Given the description of an element on the screen output the (x, y) to click on. 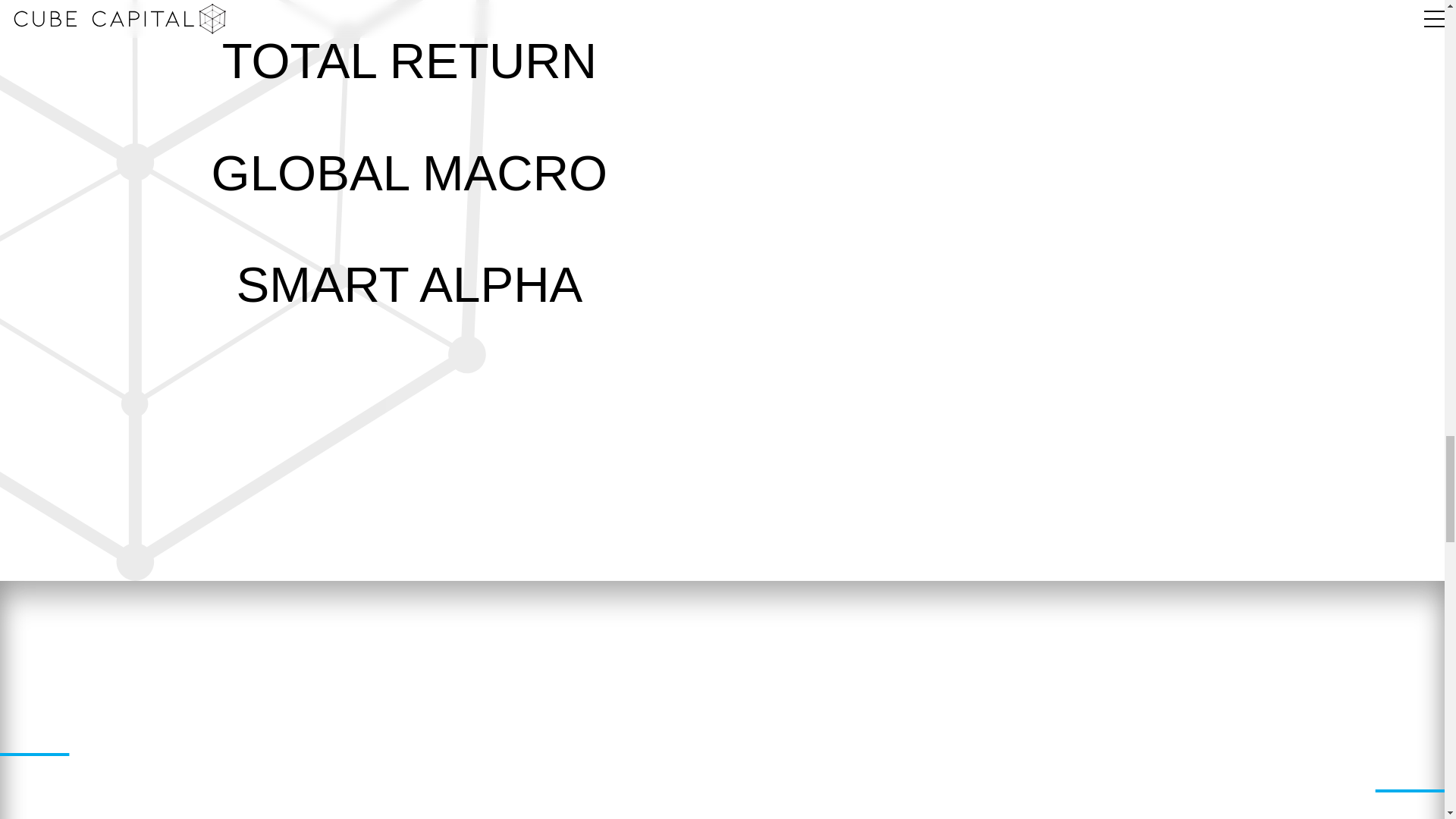
SMART ALPHA (408, 284)
TOTAL RETURN (409, 60)
GLOBAL MACRO (409, 172)
